Given the description of an element on the screen output the (x, y) to click on. 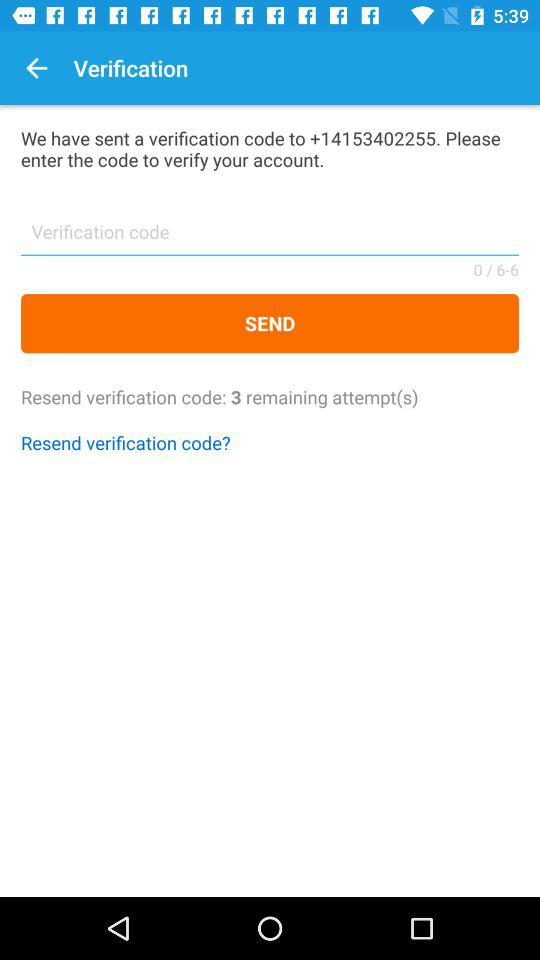
go back (36, 68)
